Given the description of an element on the screen output the (x, y) to click on. 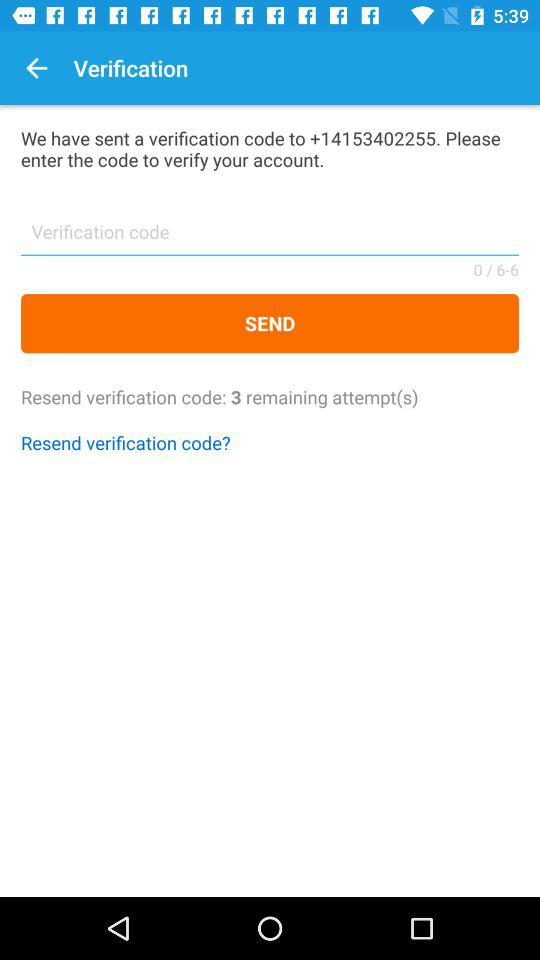
go back (36, 68)
